Given the description of an element on the screen output the (x, y) to click on. 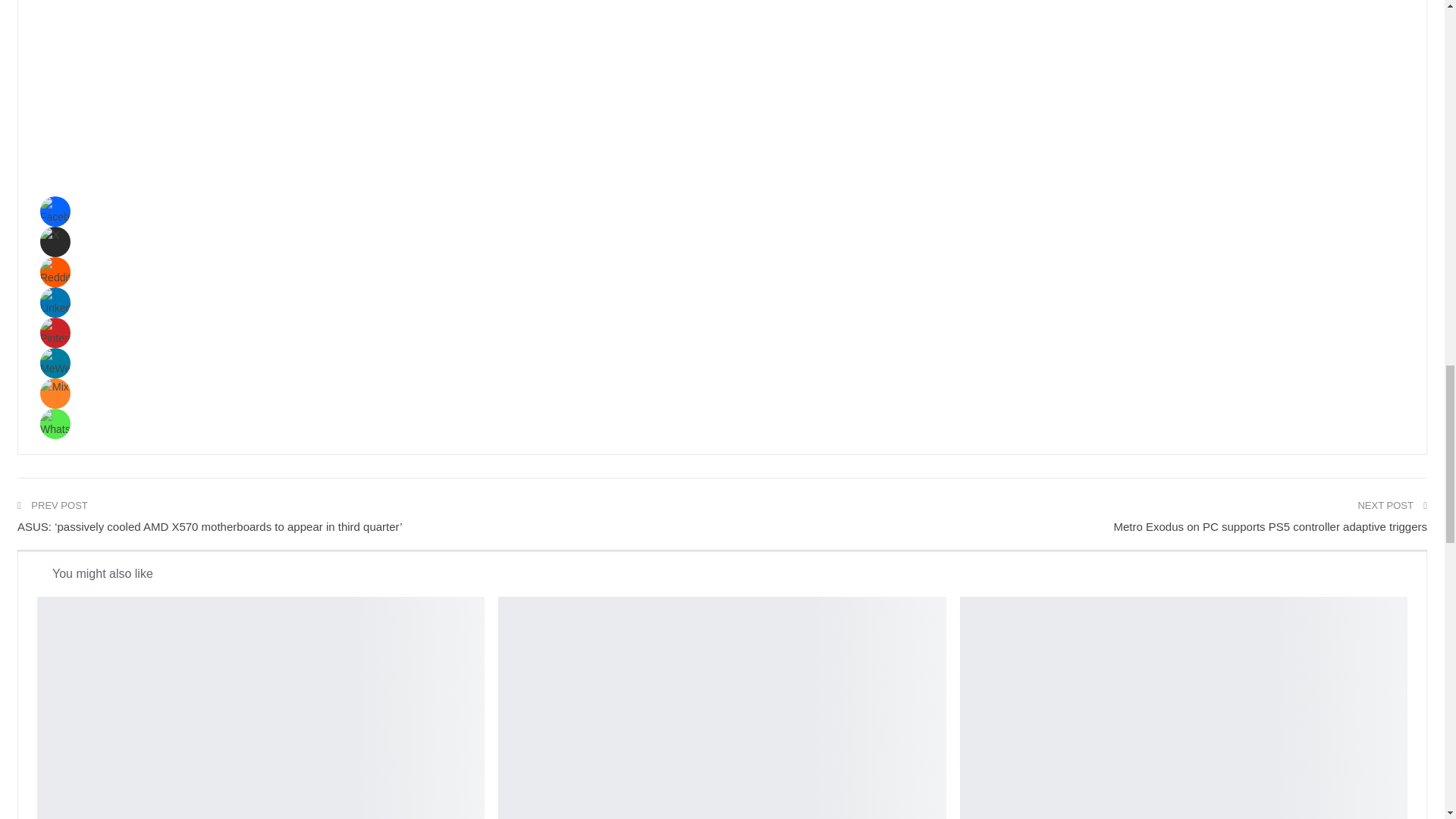
Reddit (55, 271)
Facebook (55, 210)
X (55, 241)
